Given the description of an element on the screen output the (x, y) to click on. 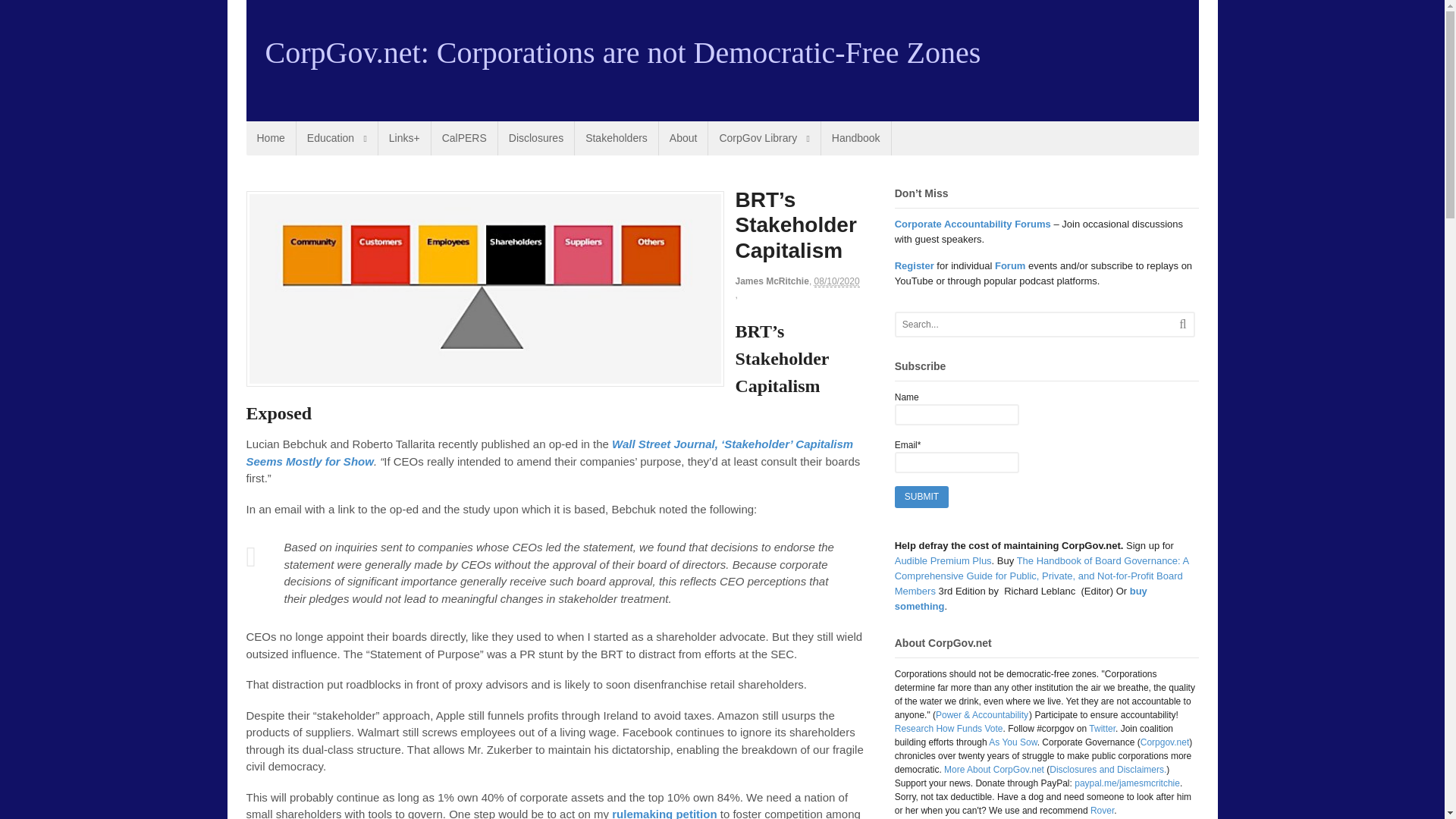
2020-08-10T05:49:02-0700 (836, 281)
Handbook (856, 138)
CorpGov.net: Corporations are not Democratic-Free Zones (622, 52)
Submit (922, 496)
Posts by James McRitchie (772, 281)
Stakeholders (616, 138)
Home (270, 138)
James McRitchie (772, 281)
Education (337, 138)
CorpGov Library (763, 138)
About (683, 138)
Disclosures (535, 138)
Search... (1028, 323)
CalPERS (463, 138)
rulemaking petition (663, 813)
